Given the description of an element on the screen output the (x, y) to click on. 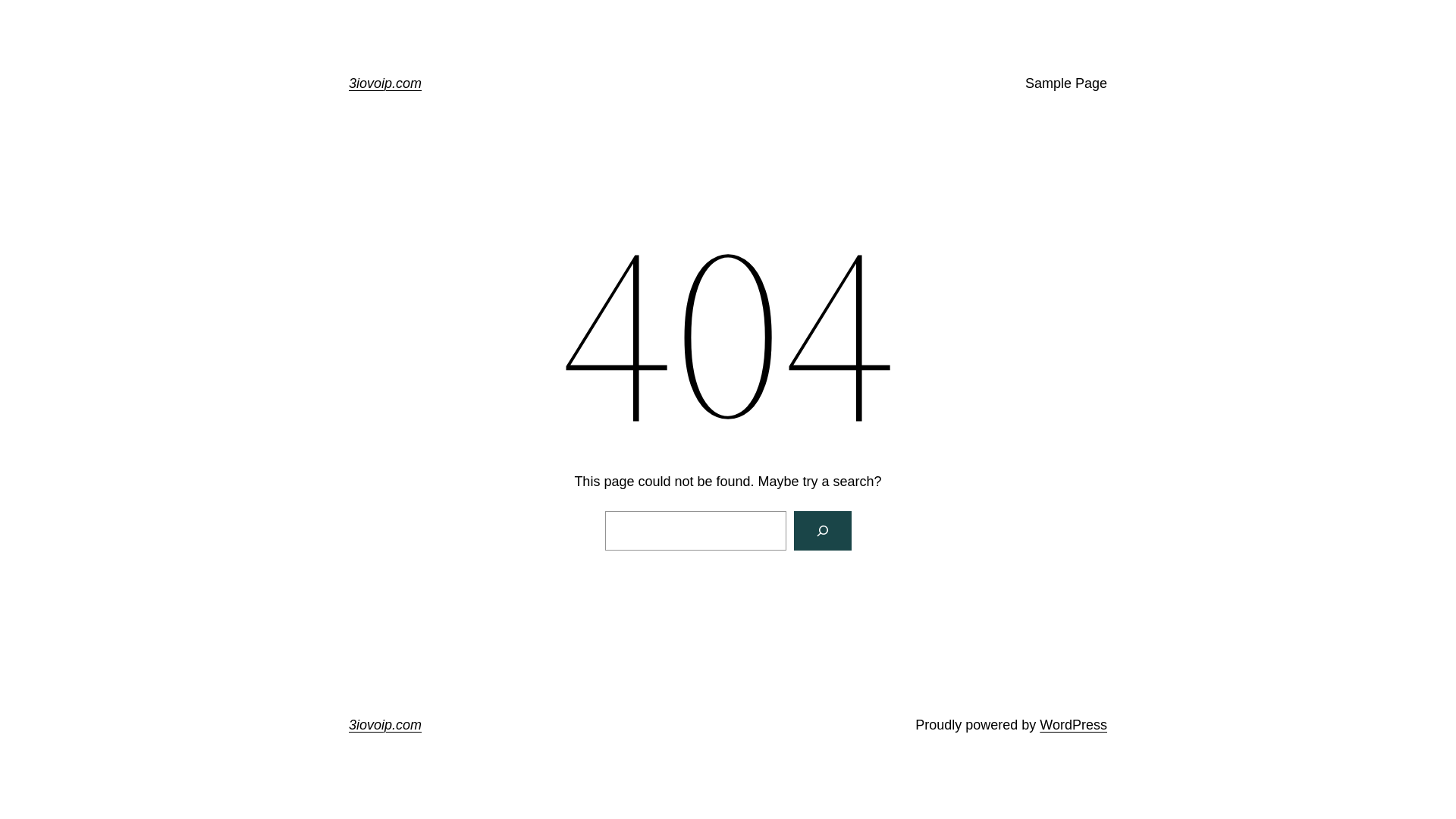
3iovoip.com Element type: text (384, 83)
Sample Page Element type: text (1066, 83)
3iovoip.com Element type: text (384, 724)
WordPress Element type: text (1073, 724)
